Given the description of an element on the screen output the (x, y) to click on. 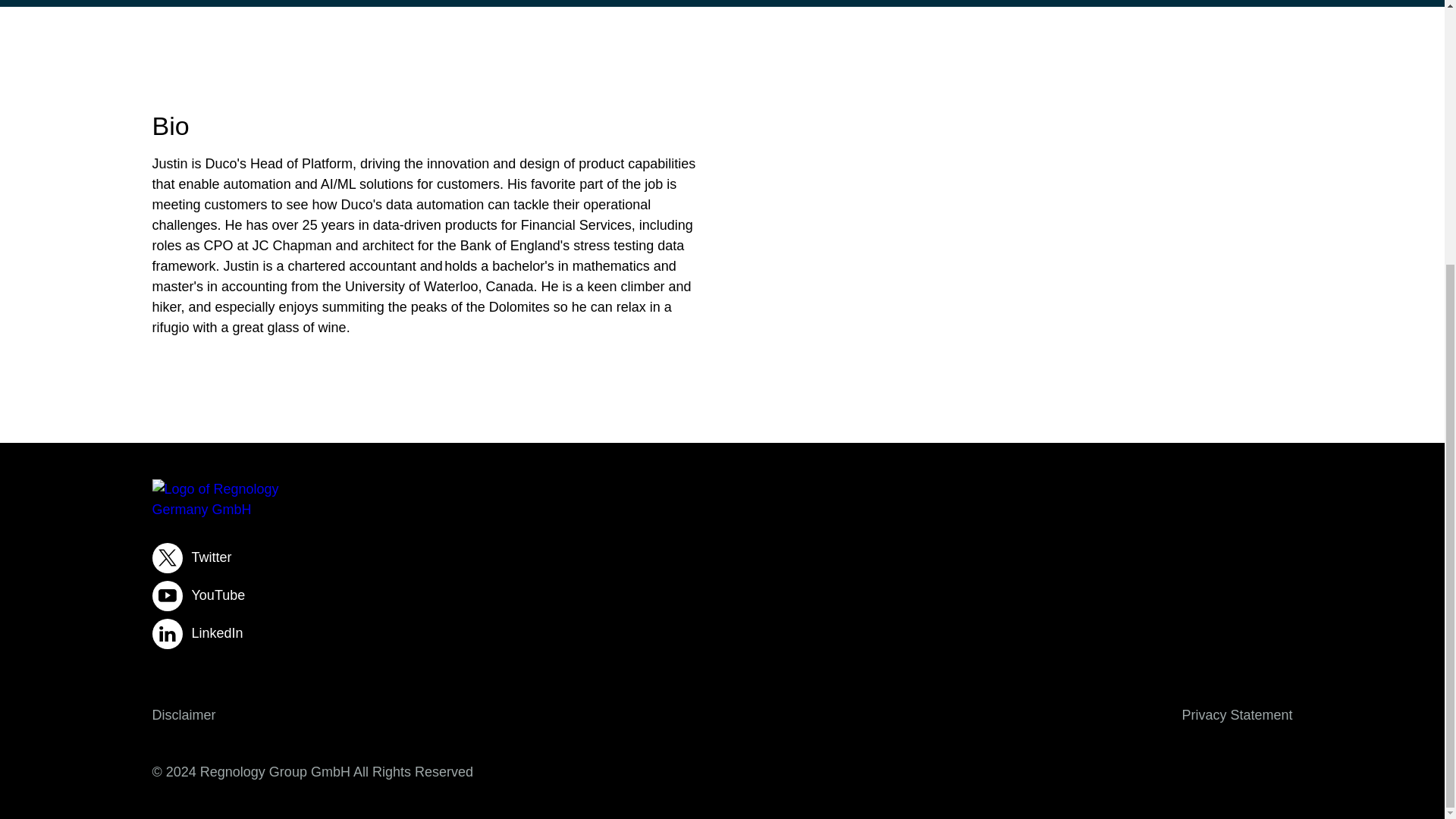
Disclaimer (183, 714)
YouTube (721, 595)
Twitter (721, 557)
Twitter (721, 557)
LinkedIn (721, 634)
Privacy Statement (1236, 714)
YouTube (721, 595)
LinkedIn (721, 634)
